Given the description of an element on the screen output the (x, y) to click on. 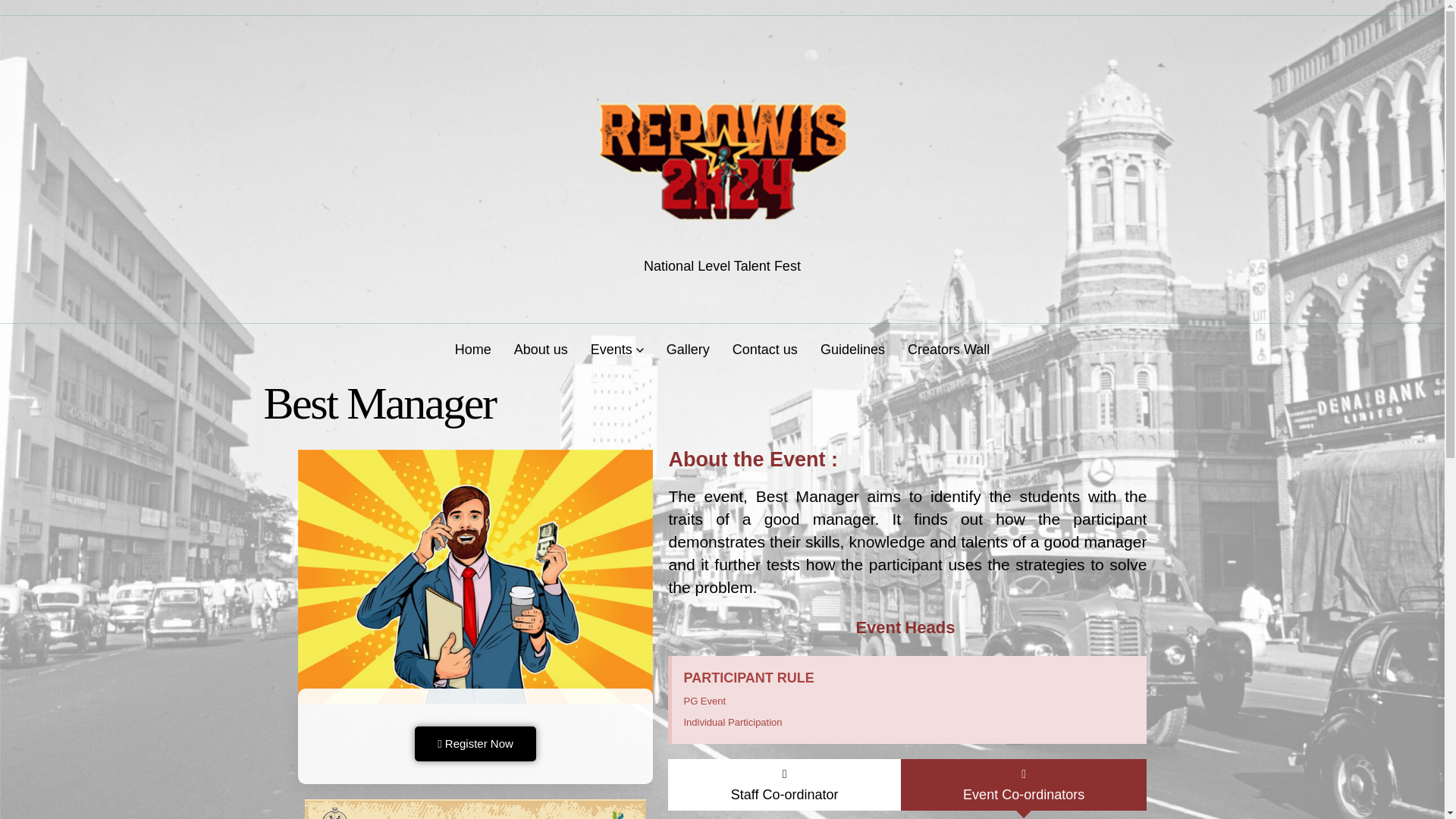
Register Now (476, 740)
About us (540, 349)
Guidelines (852, 349)
Contact us (764, 349)
Creators Wall (948, 349)
Home (473, 349)
Gallery (687, 349)
Events (617, 349)
